Given the description of an element on the screen output the (x, y) to click on. 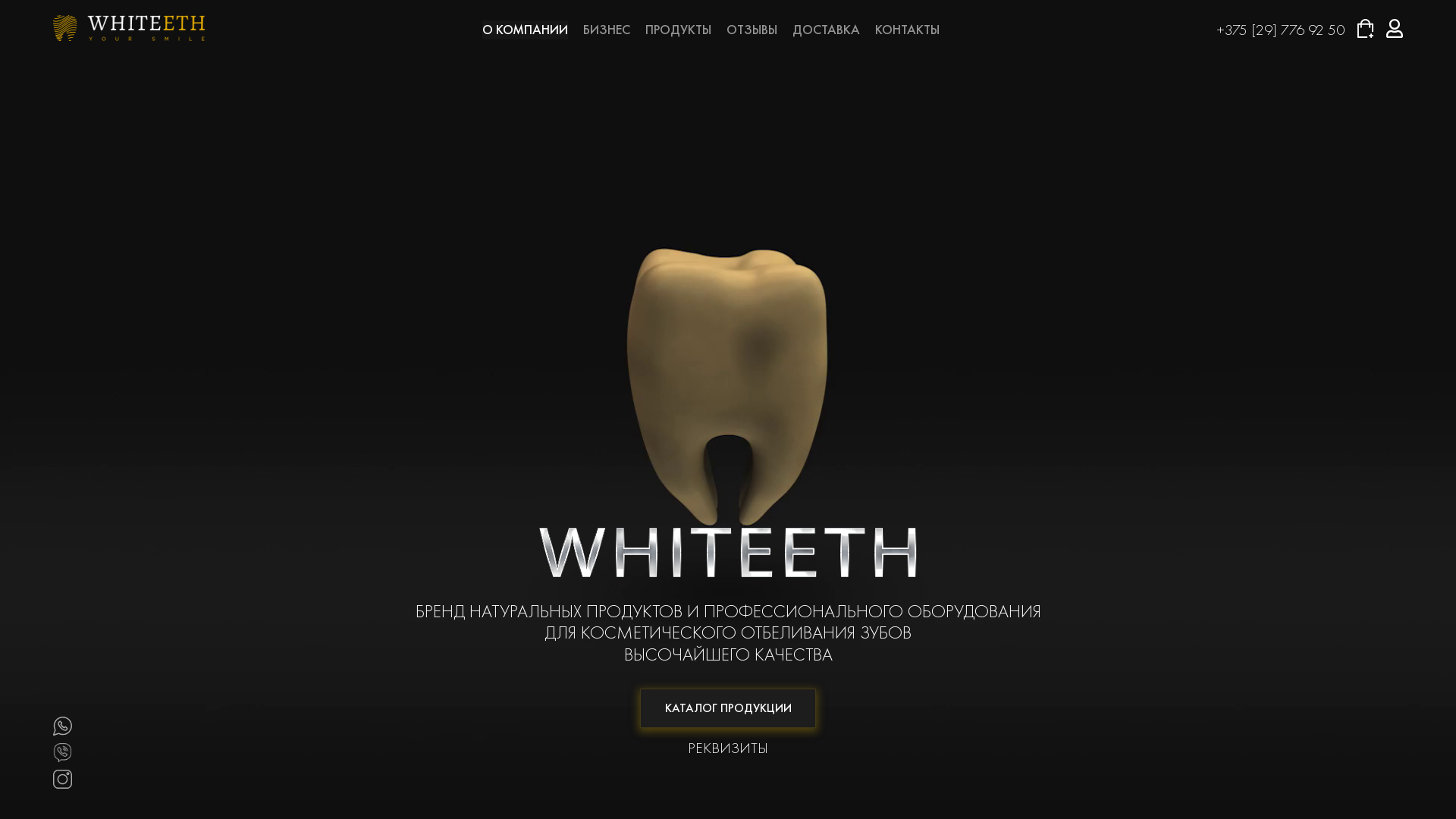
+375 [29] 776 92 50 Element type: text (1280, 29)
